Given the description of an element on the screen output the (x, y) to click on. 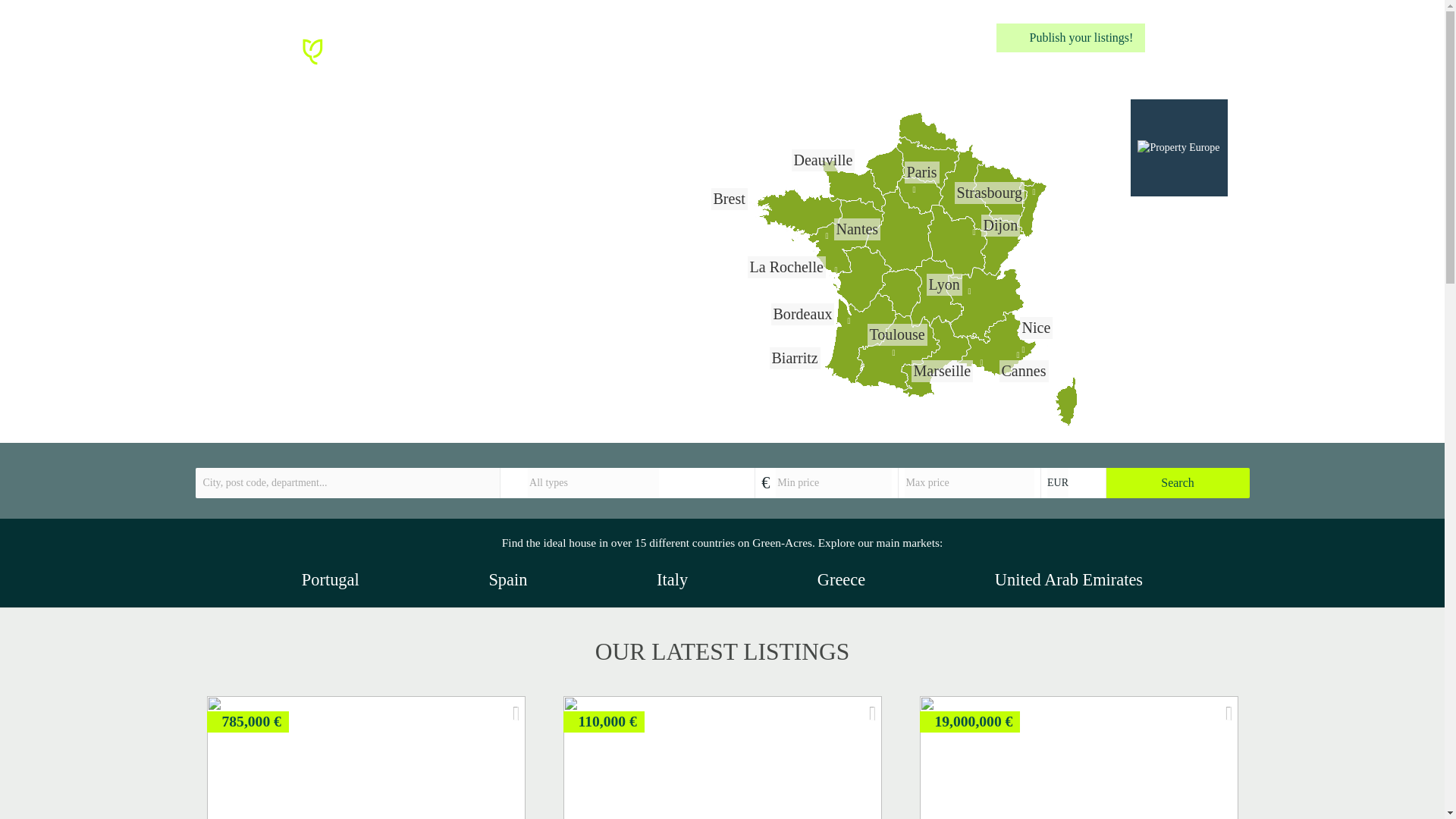
Bordeaux (802, 313)
Biarritz (794, 357)
Marseille (941, 370)
Language (1193, 37)
Toulouse (896, 334)
Search (1177, 482)
Nantes (856, 228)
Brest (728, 198)
La Rochelle (785, 266)
Deauville (822, 159)
